Given the description of an element on the screen output the (x, y) to click on. 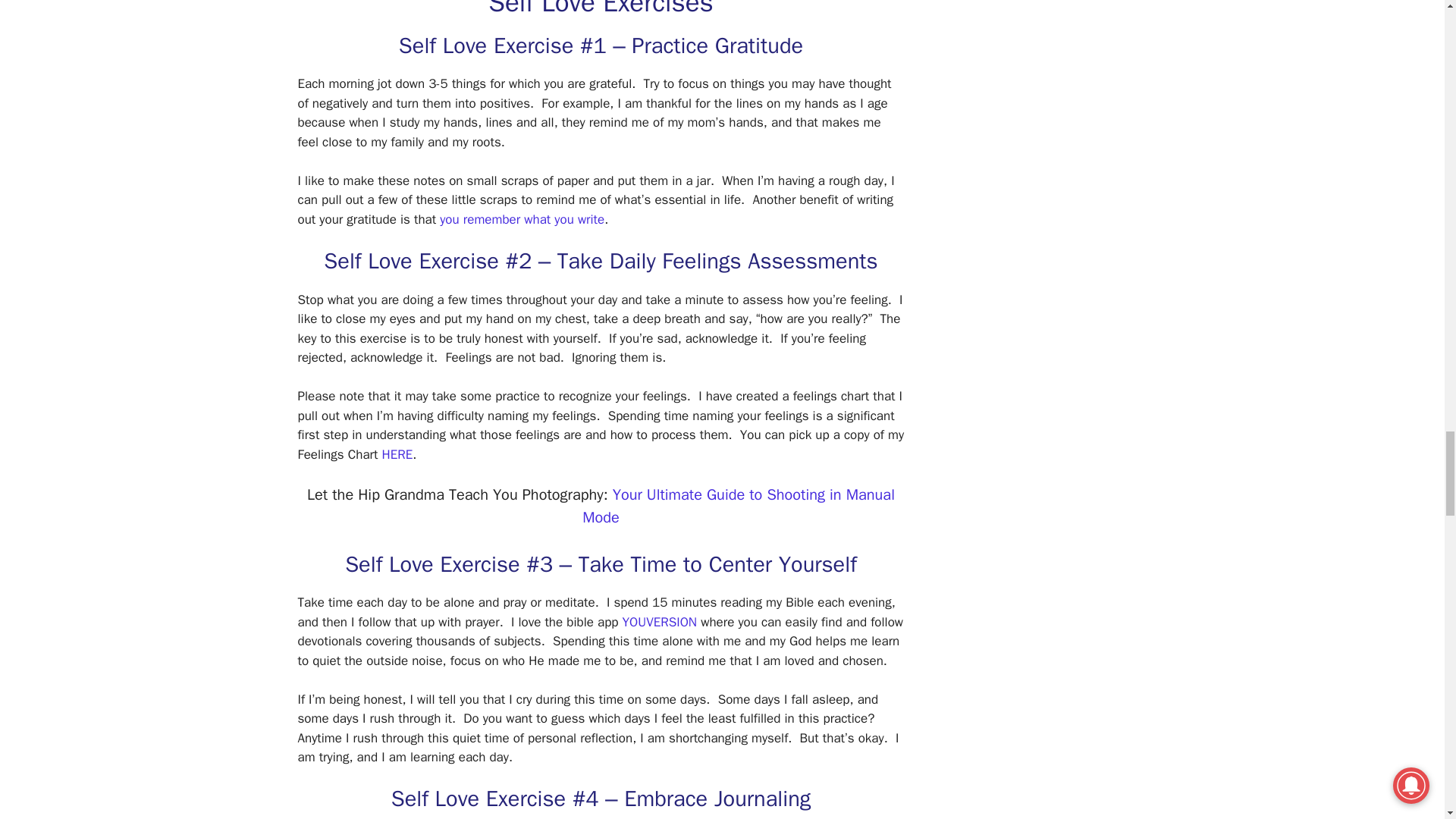
Your Ultimate Guide to Shooting in Manual Mode (738, 506)
you remember what you write (521, 219)
YOUVERSION (660, 621)
HERE (397, 454)
